Given the description of an element on the screen output the (x, y) to click on. 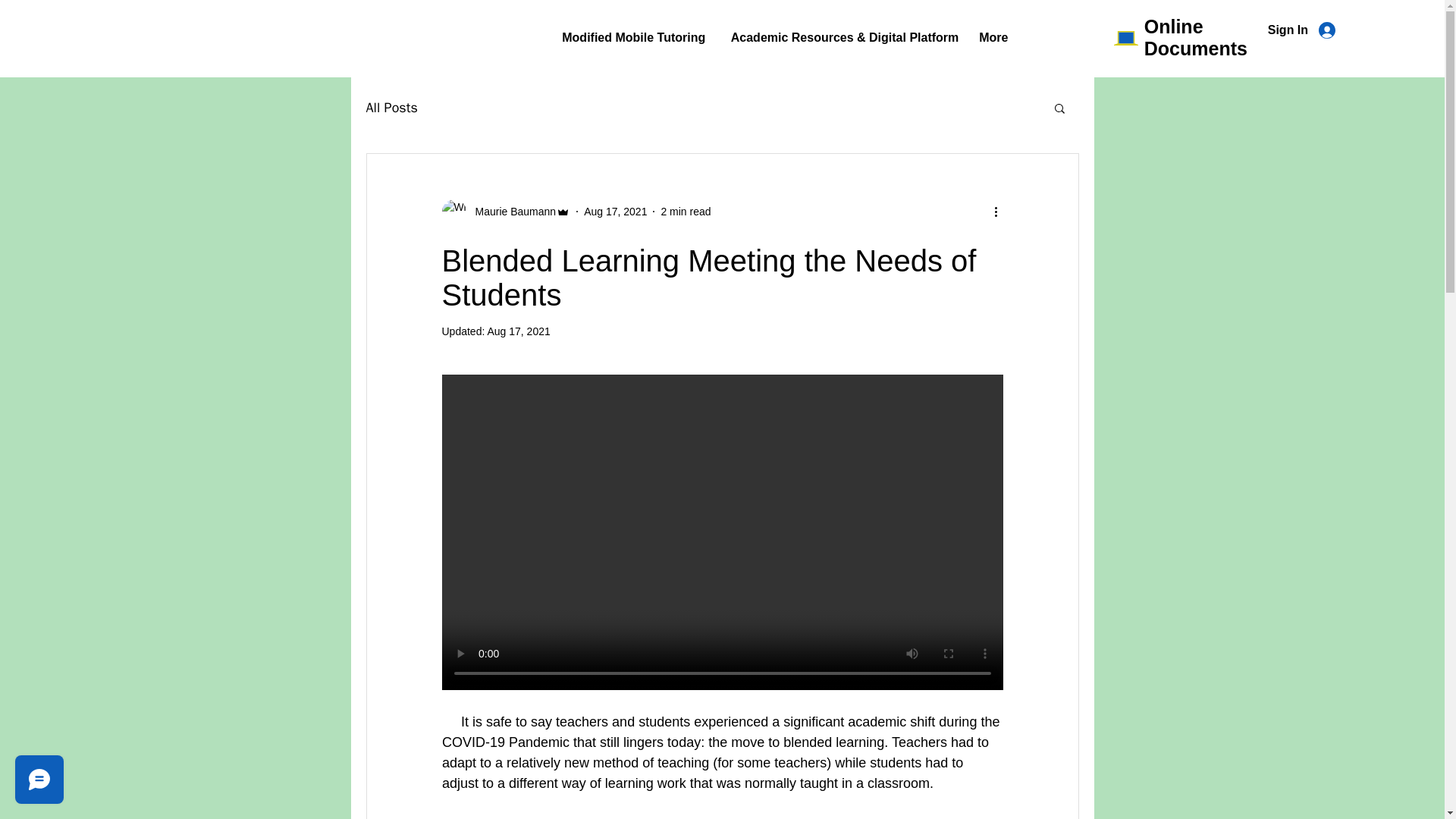
Maurie Baumann (510, 211)
Maurie Baumann (505, 211)
2 min read (685, 210)
All Posts (390, 107)
Modified Mobile Tutoring (633, 37)
Sign In (1301, 30)
Aug 17, 2021 (518, 331)
Aug 17, 2021 (614, 210)
Wix Chat (35, 783)
Online Documents (1195, 36)
